Given the description of an element on the screen output the (x, y) to click on. 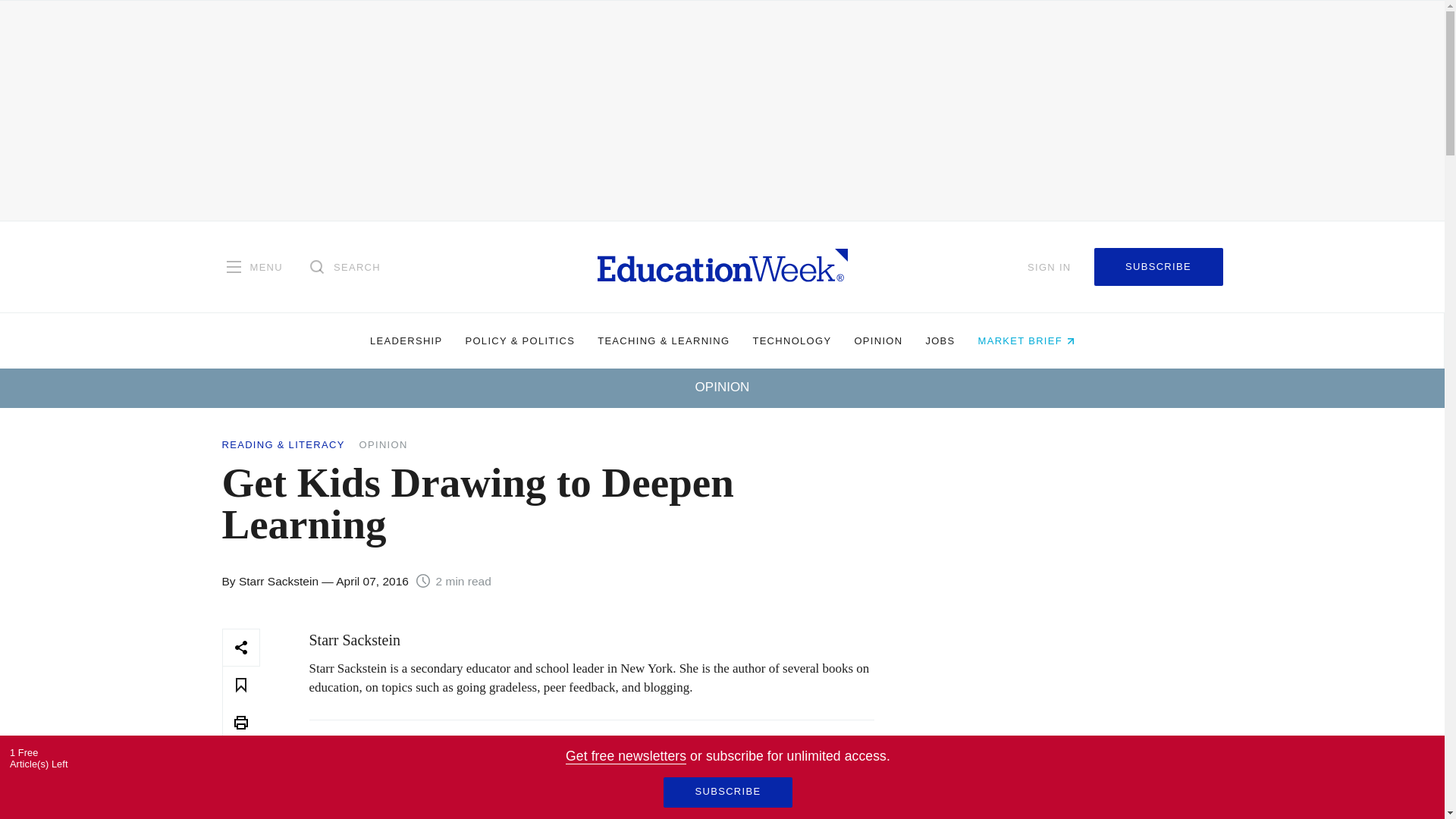
Homepage (721, 266)
3rd party ad content (1070, 723)
